Given the description of an element on the screen output the (x, y) to click on. 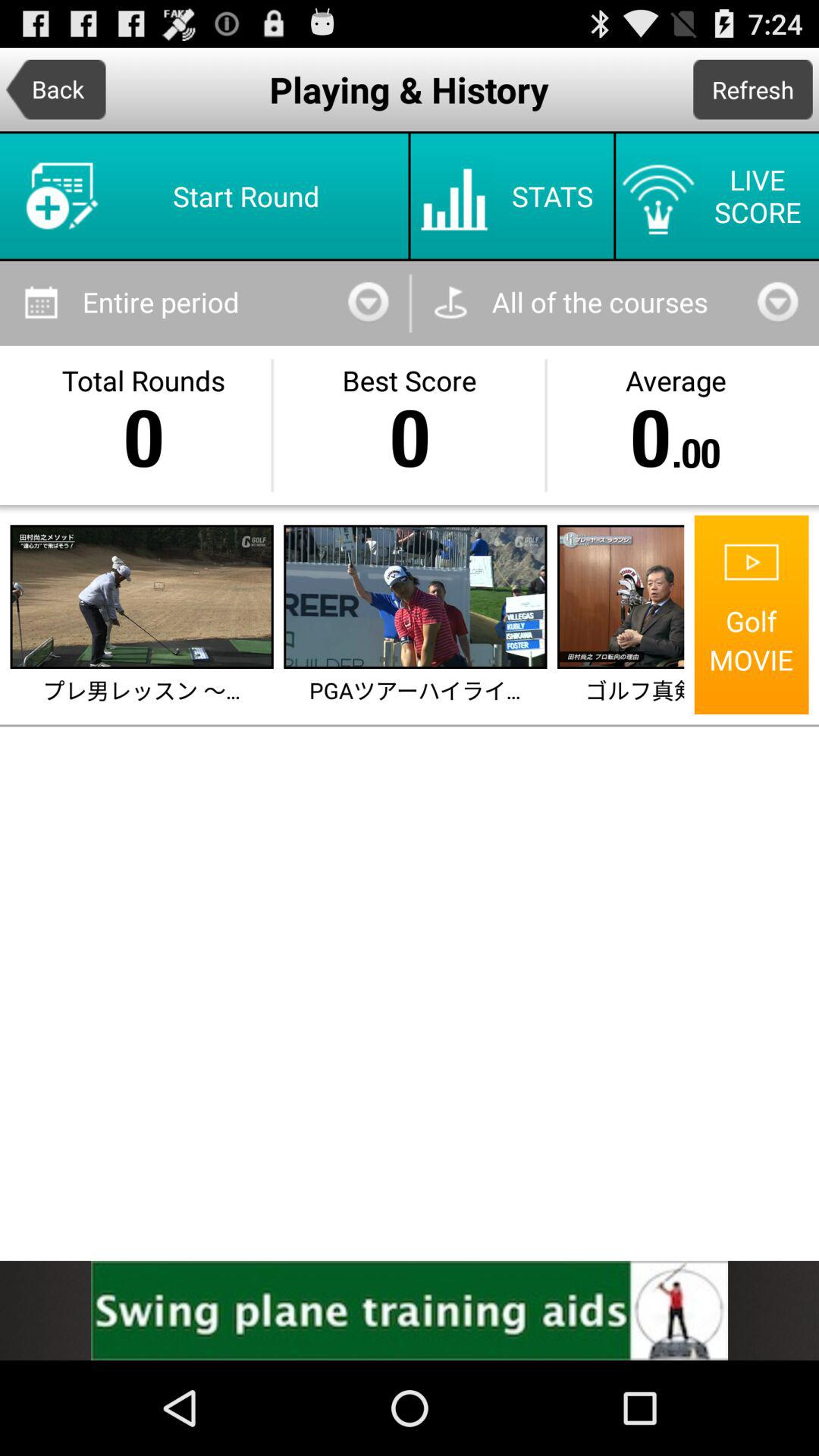
click on the photo (621, 596)
